Given the description of an element on the screen output the (x, y) to click on. 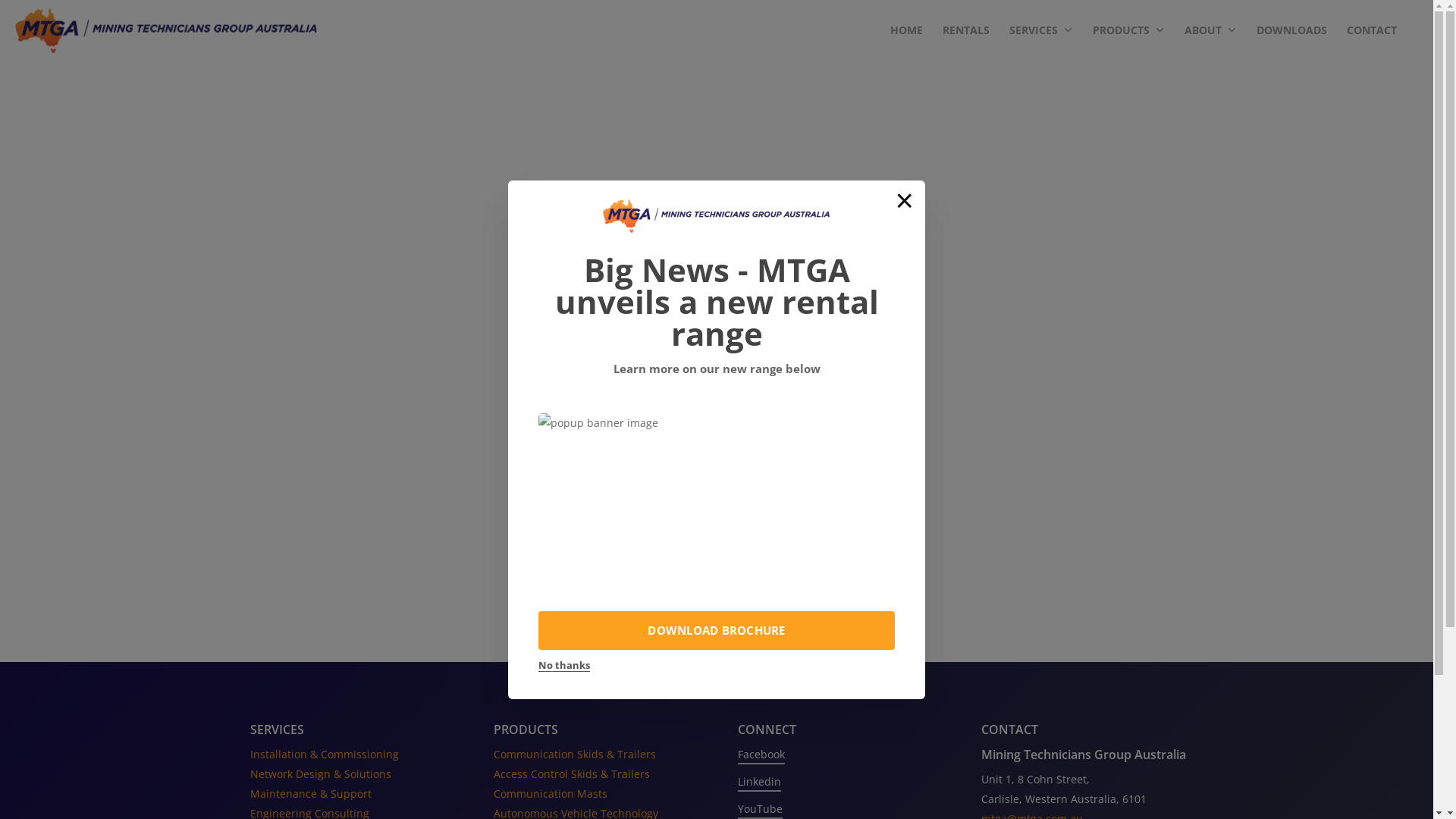
Facebook Element type: text (760, 754)
DOWNLOADS Element type: text (1291, 29)
SERVICES Element type: text (1040, 29)
HOME Element type: text (906, 29)
Back Home Element type: text (722, 510)
Maintenance & Support Element type: text (310, 793)
Network Design & Solutions Element type: text (320, 773)
RENTALS Element type: text (965, 29)
DOWNLOAD BROCHURE Element type: text (716, 630)
ABOUT Element type: text (1210, 29)
Communication Masts Element type: text (550, 793)
Access Control Skids & Trailers Element type: text (571, 773)
CONTACT Element type: text (1371, 29)
No thanks Element type: text (563, 666)
PRODUCTS Element type: text (1128, 29)
Installation & Commissioning Element type: text (324, 753)
Communication Skids & Trailers Element type: text (574, 753)
Linkedin Element type: text (758, 781)
